Given the description of an element on the screen output the (x, y) to click on. 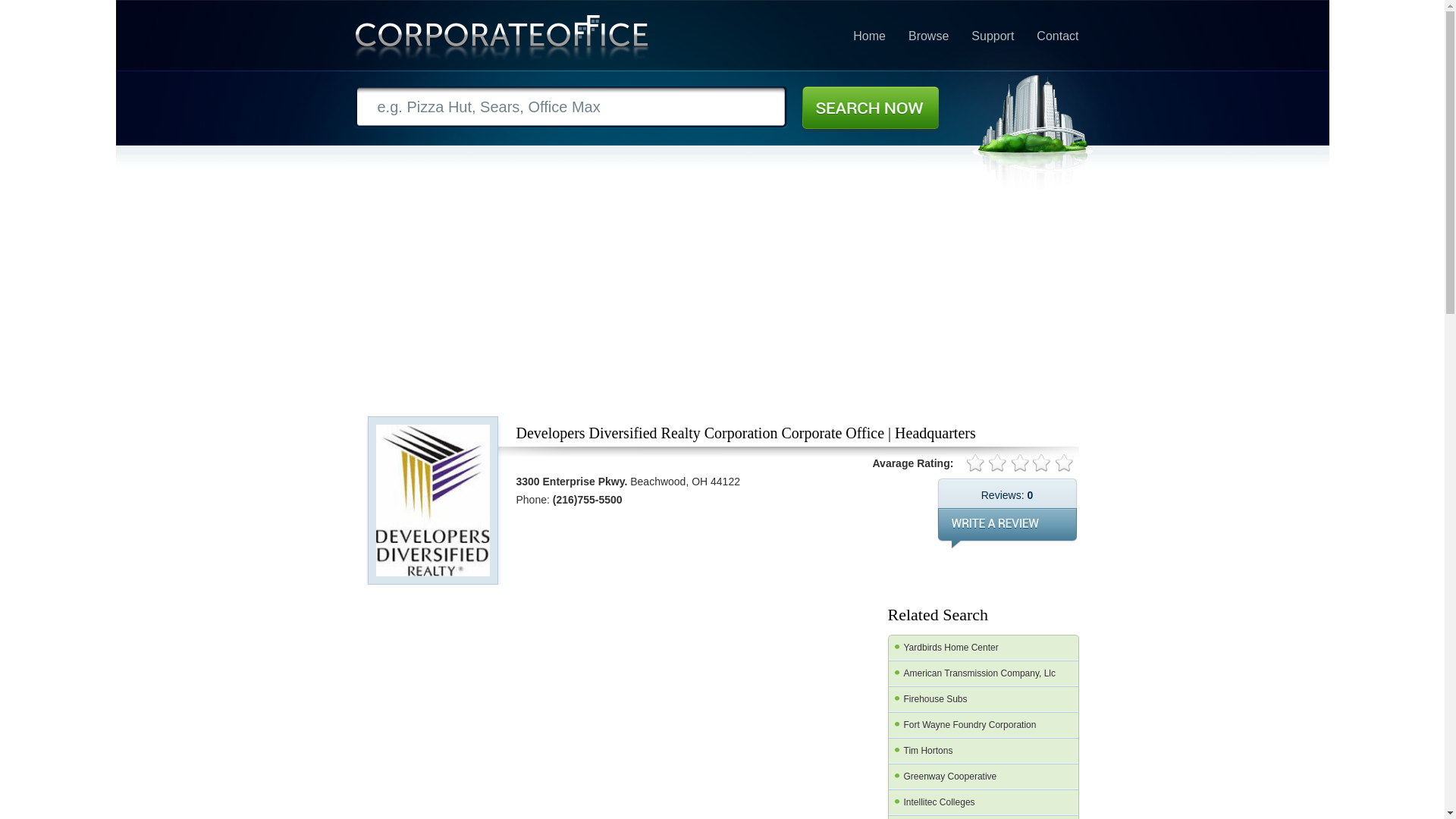
e.g. Pizza Hut, Sears, Office Max (571, 106)
Home (868, 36)
Intellitec Colleges (983, 802)
Tek Systems, Inc (983, 817)
American Transmission Company, Llc (983, 673)
Firehouse Subs (983, 699)
Tim Hortons (983, 750)
Contact (1057, 36)
Corporate Office (502, 40)
Support (992, 36)
